Given the description of an element on the screen output the (x, y) to click on. 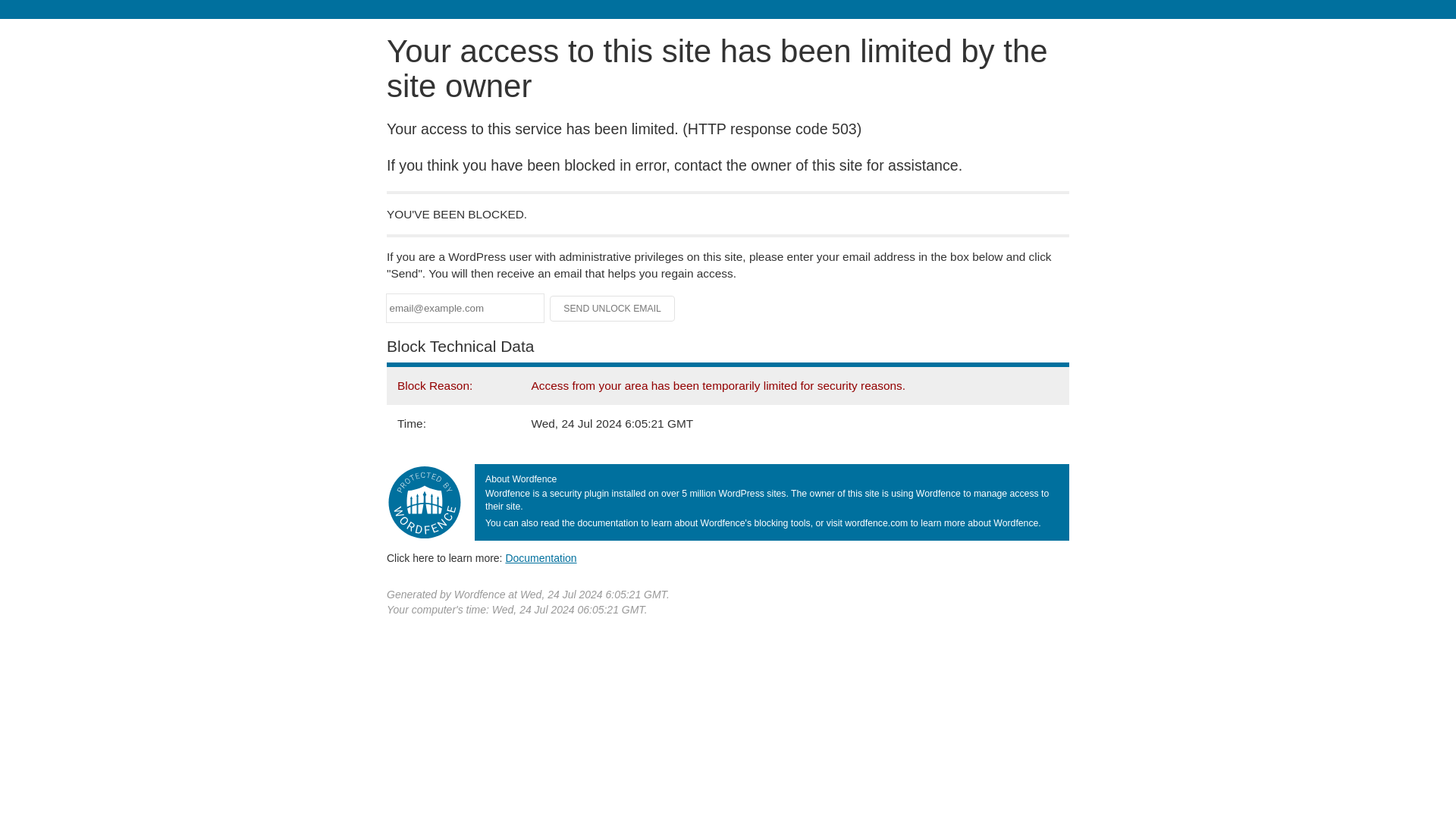
Send Unlock Email (612, 308)
Send Unlock Email (612, 308)
Documentation (540, 558)
